Given the description of an element on the screen output the (x, y) to click on. 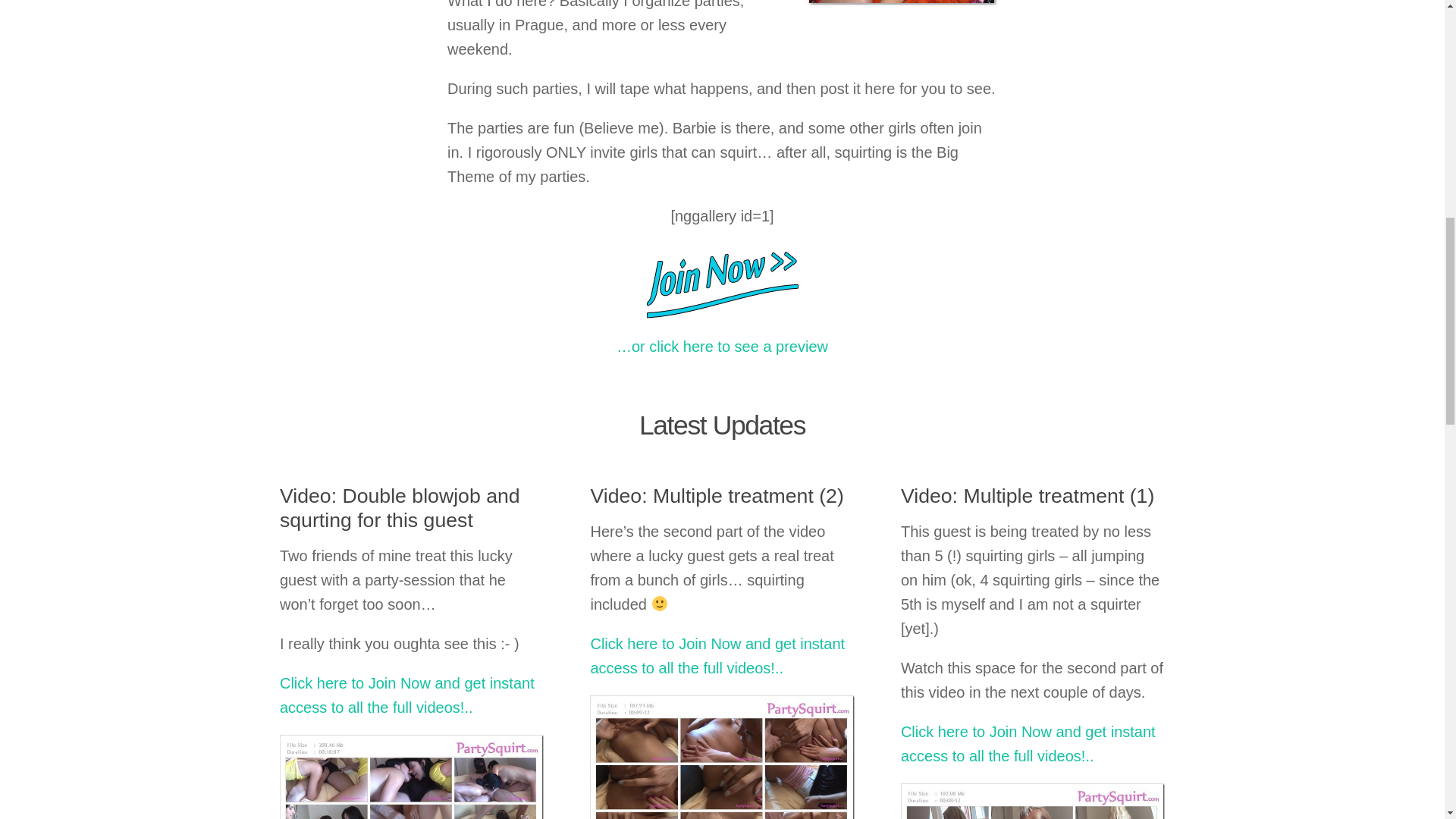
Join now to see the videos and enter the contest! (721, 281)
Huge dildo in Barbie's pussy (901, 2)
Video: Double blowjob and squrting for this guest (399, 507)
